Given the description of an element on the screen output the (x, y) to click on. 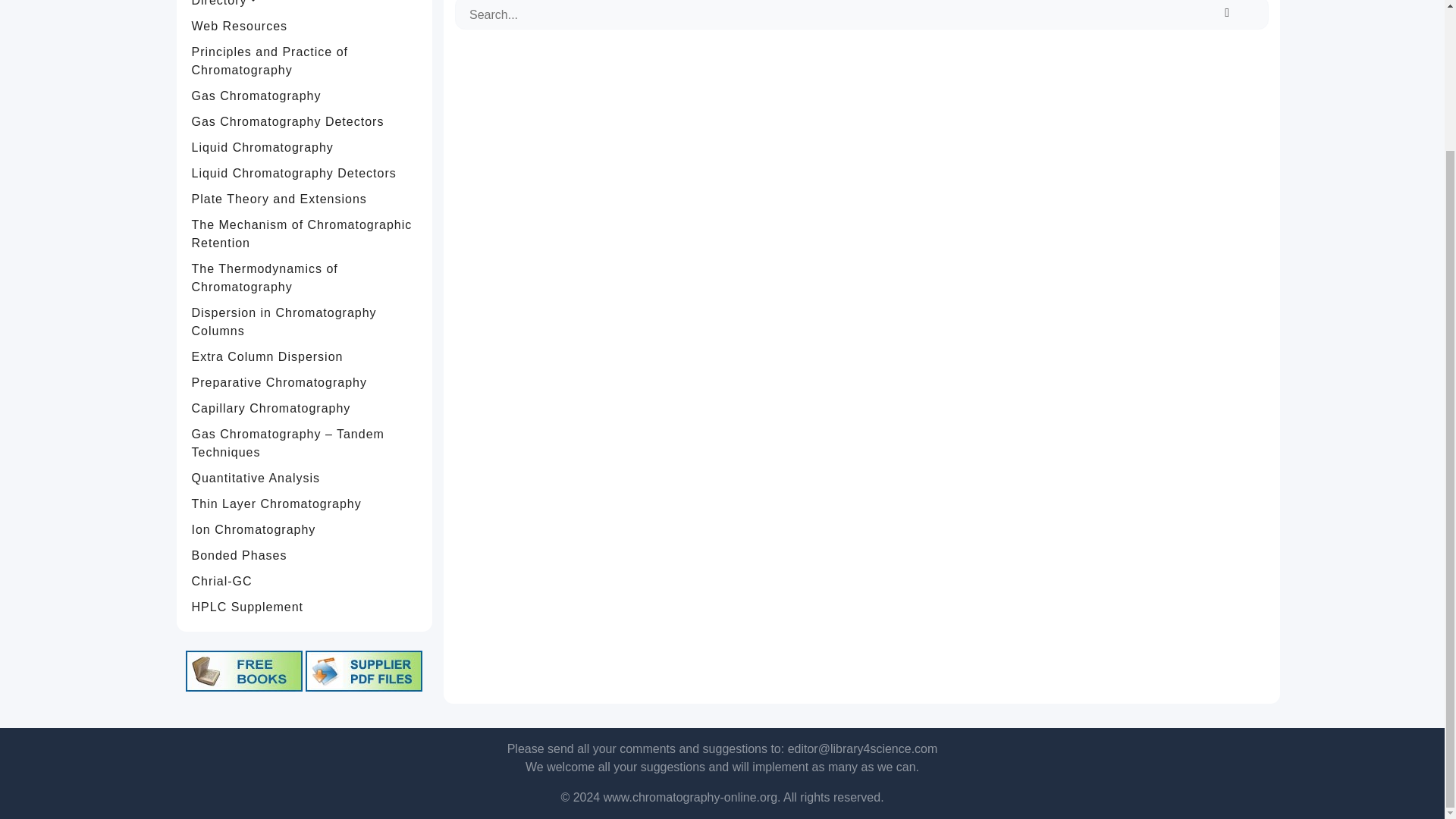
Capillary Chromatography (304, 408)
Preparative Chromatography (304, 382)
Gas Chromatography (304, 95)
Extra Column Dispersion (304, 356)
Free Brochures (363, 670)
Principles and Practice of Chromatography (304, 61)
Quantitative Analysis (304, 478)
Ion Chromatography (304, 529)
HPLC Supplement (304, 606)
Plate Theory and Extensions (304, 199)
The Thermodynamics of Chromatography (304, 278)
Liquid Chromatography Detectors (304, 173)
Chrial-GC (304, 581)
Dispersion in Chromatography Columns (304, 321)
Bonded Phases (304, 555)
